Given the description of an element on the screen output the (x, y) to click on. 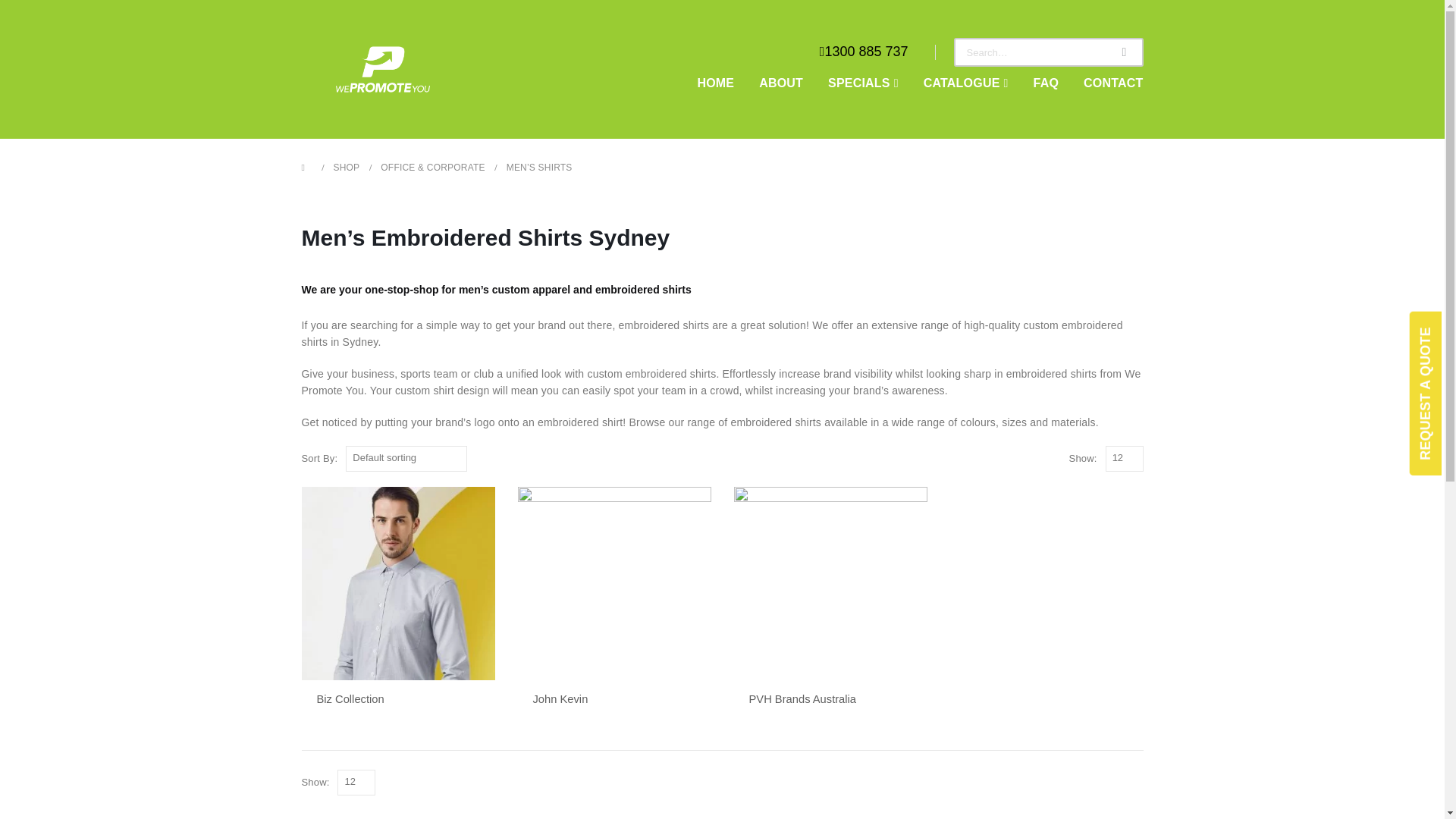
CONTACT (1106, 82)
Biz Collection (398, 699)
We Promote You - Promotional Items and Branded Uniforms (382, 68)
Search (1123, 52)
SHOP (346, 167)
FAQ (1046, 82)
ABOUT (780, 82)
HOME (714, 82)
CATALOGUE (965, 82)
1300 885 737 (865, 51)
